Given the description of an element on the screen output the (x, y) to click on. 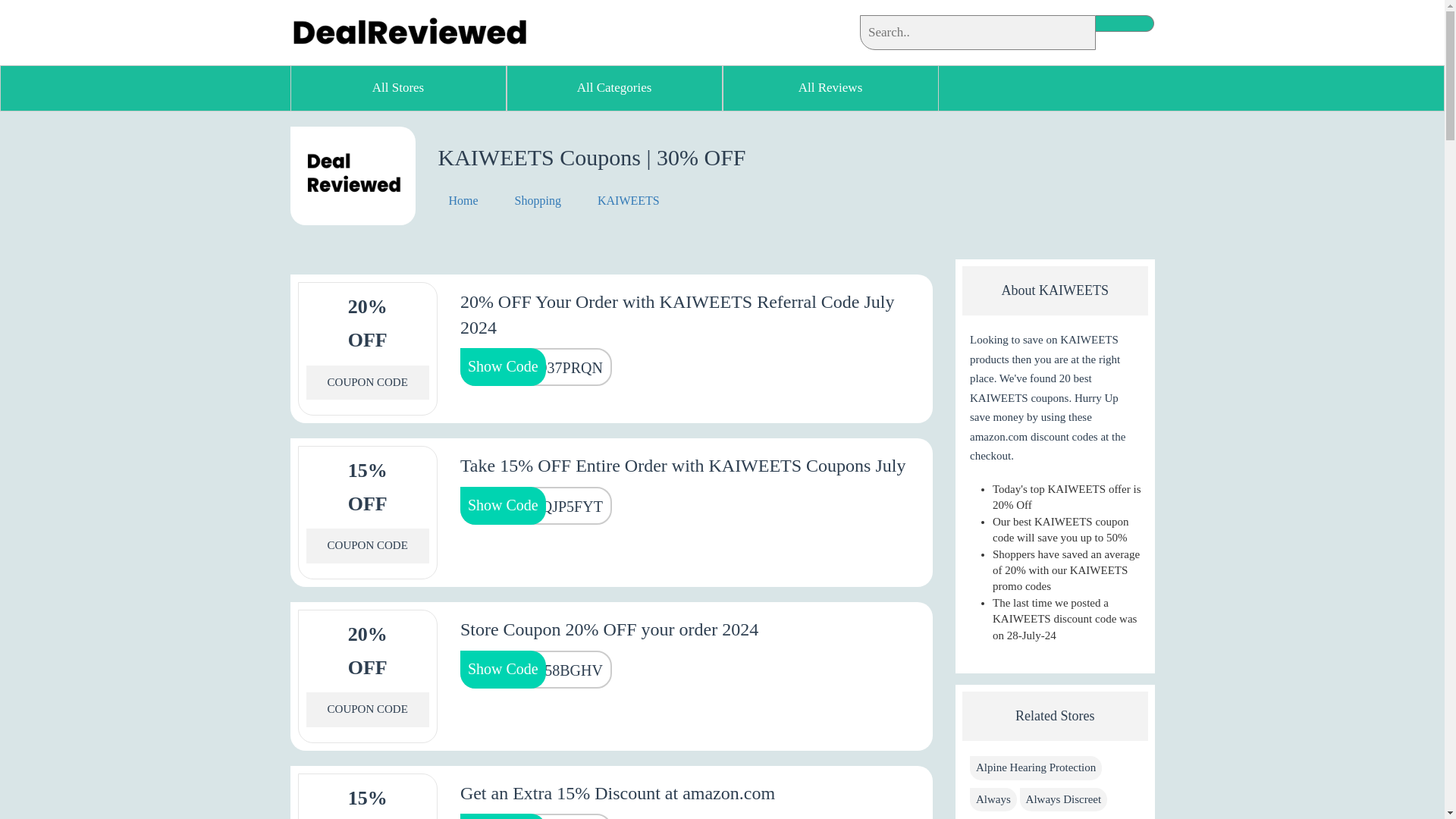
  KAIWEETS (625, 200)
KAIWEETS (351, 175)
   Shopping    (537, 200)
  Home    (464, 200)
